Given the description of an element on the screen output the (x, y) to click on. 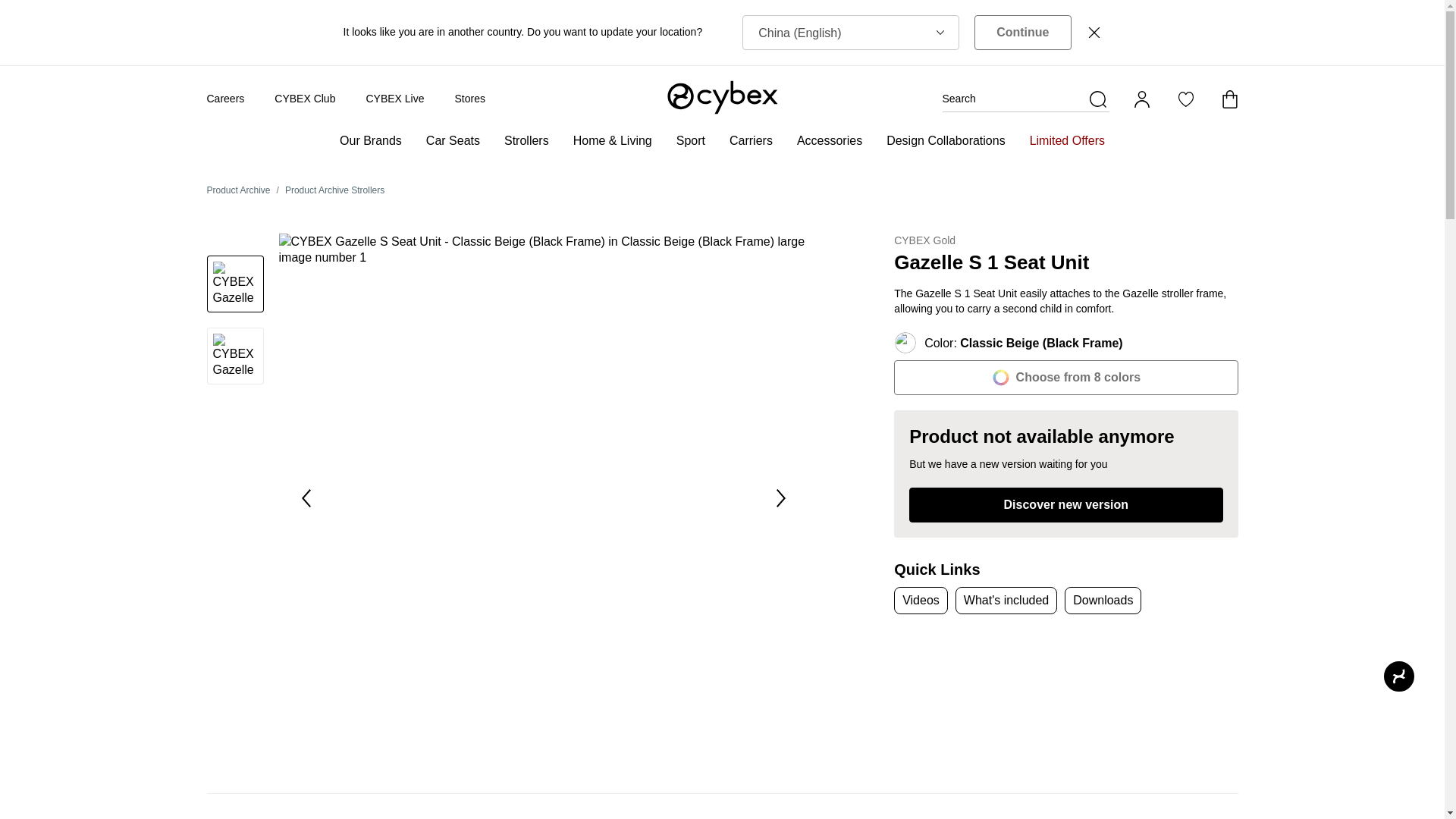
Previous (306, 497)
CYBEX Club (304, 98)
Close (1093, 32)
CYBEX Live (394, 98)
Car Seats (453, 138)
Our Brands (370, 138)
Stores (469, 98)
Home (720, 97)
Next (780, 497)
Search (1025, 99)
Careers (225, 98)
View Cart (1228, 98)
Wish List (1184, 98)
Continue (1022, 32)
